Given the description of an element on the screen output the (x, y) to click on. 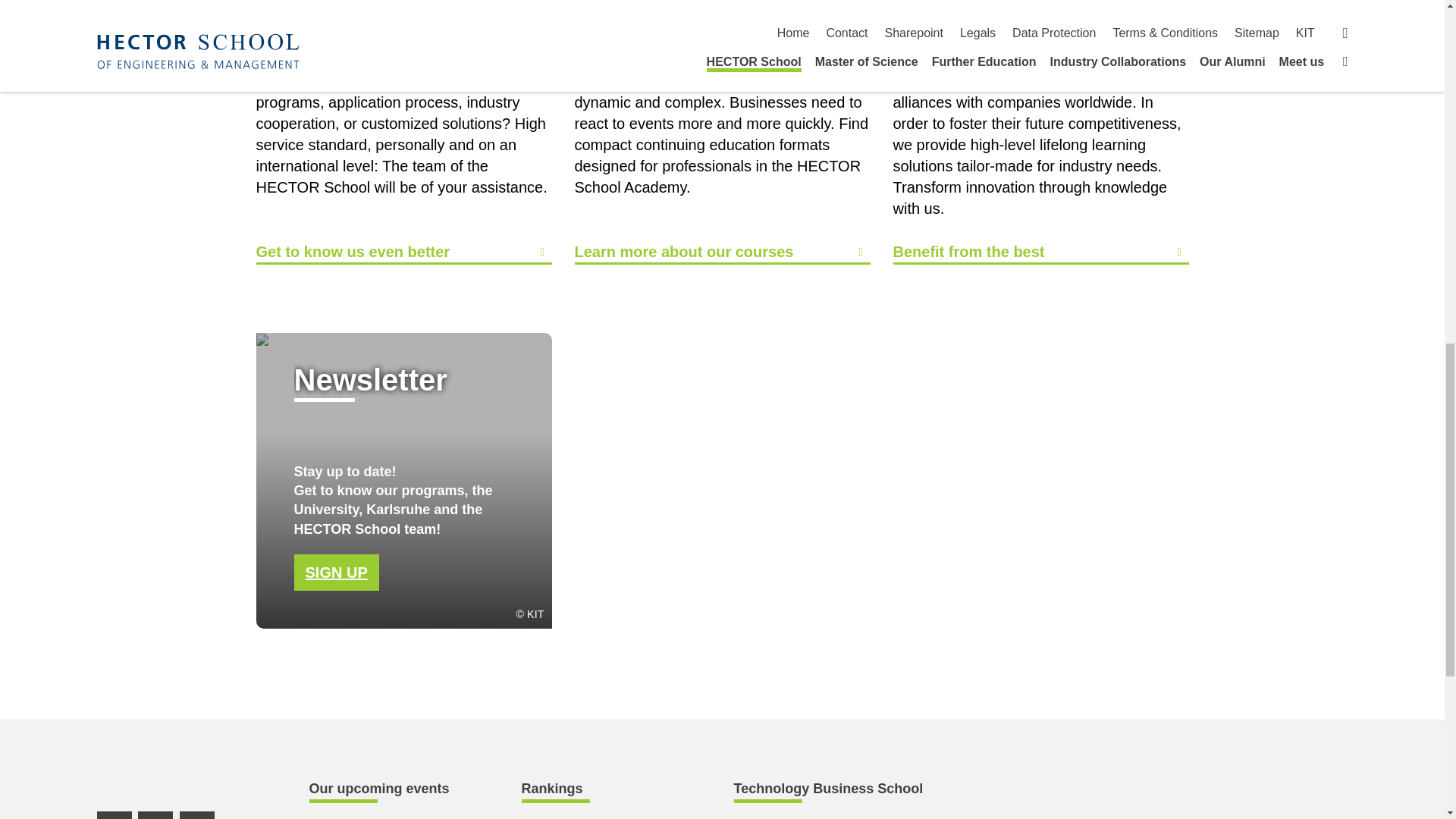
LinkedIn Profile  (114, 815)
Youtube Profile  (196, 815)
Facebook Profile  (155, 815)
